Given the description of an element on the screen output the (x, y) to click on. 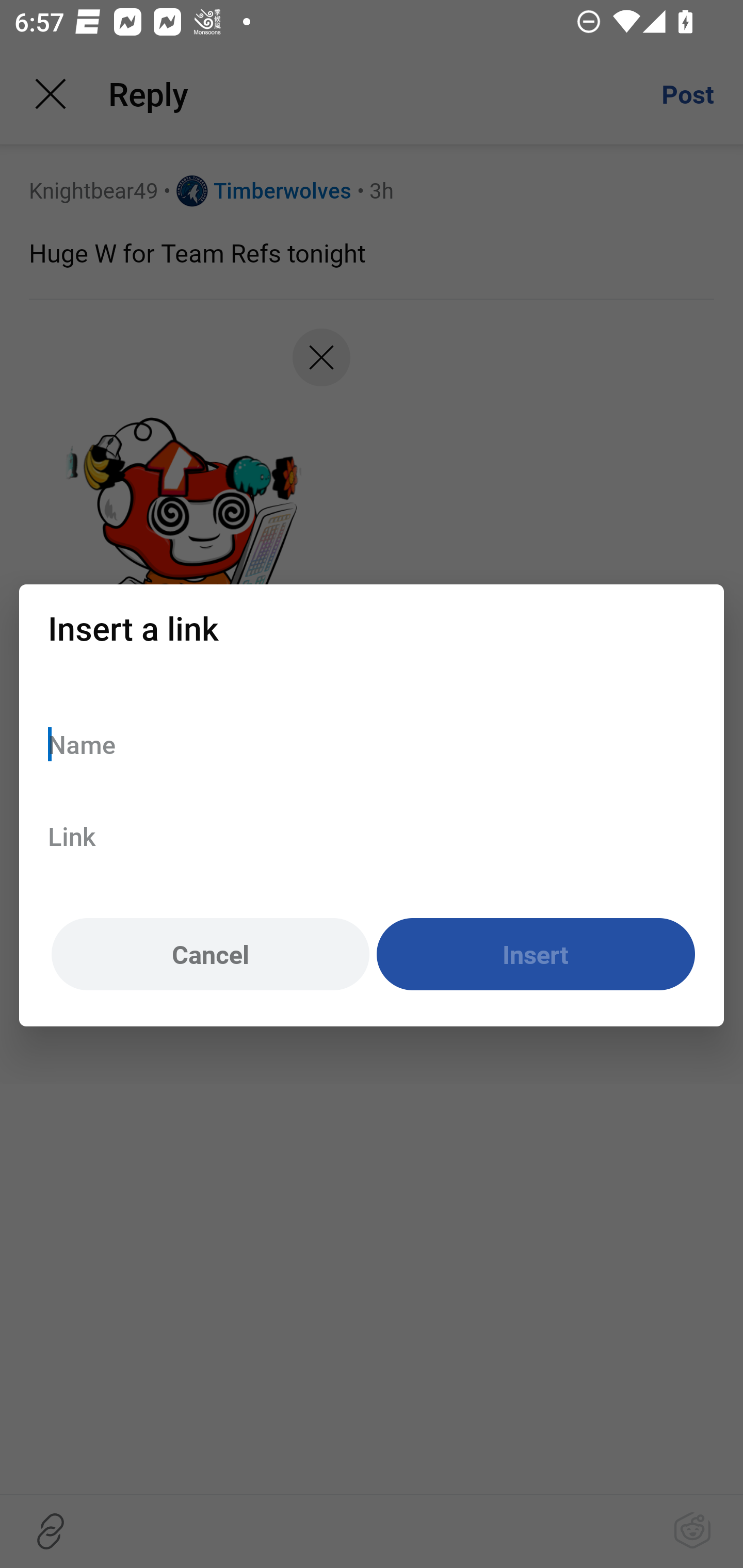
Name (371, 743)
Link (371, 835)
Cancel (210, 954)
Insert (535, 954)
